Given the description of an element on the screen output the (x, y) to click on. 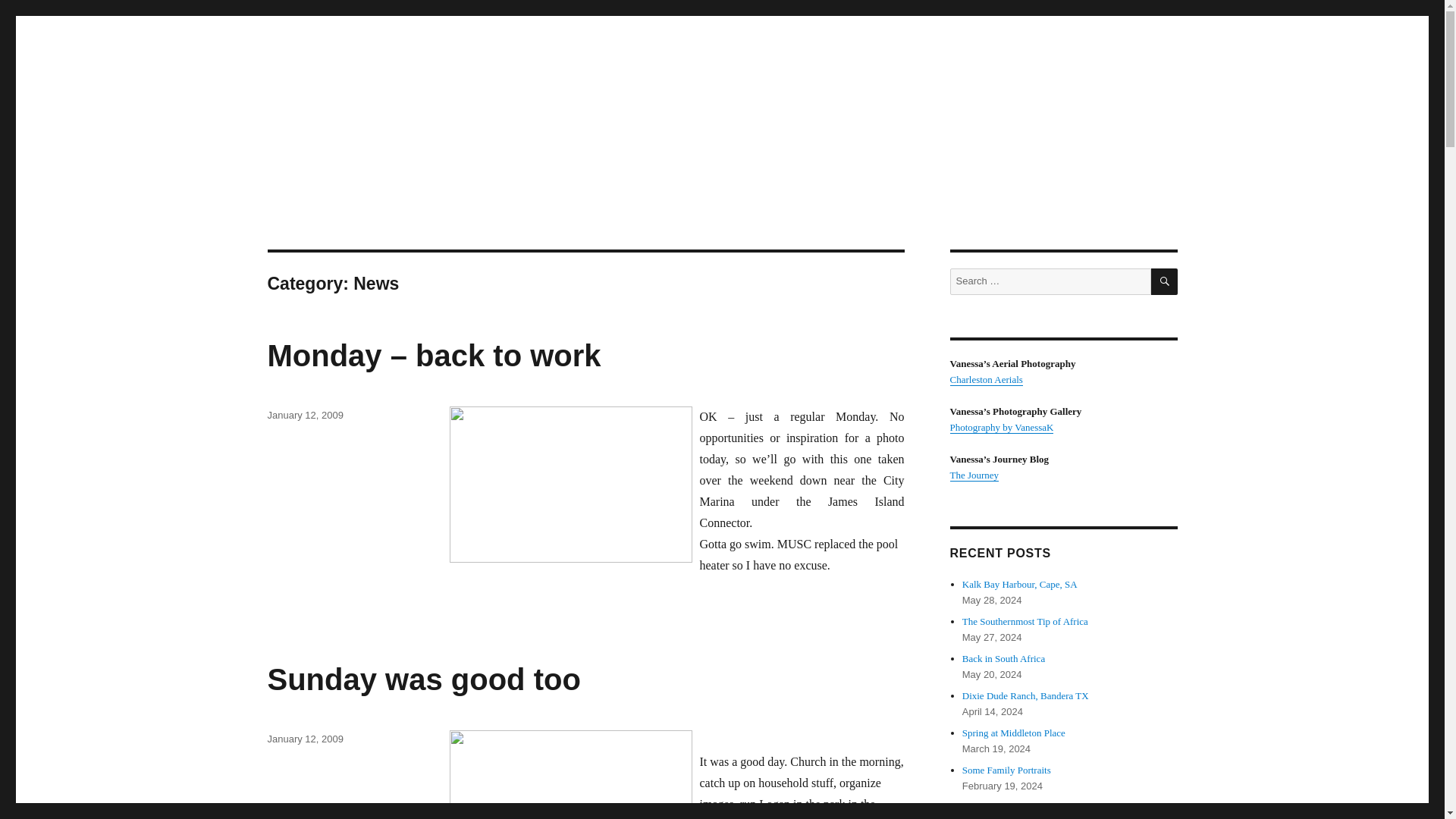
Sunday was good too (422, 679)
January 12, 2009 (304, 738)
January 12, 2009 (304, 414)
